Given the description of an element on the screen output the (x, y) to click on. 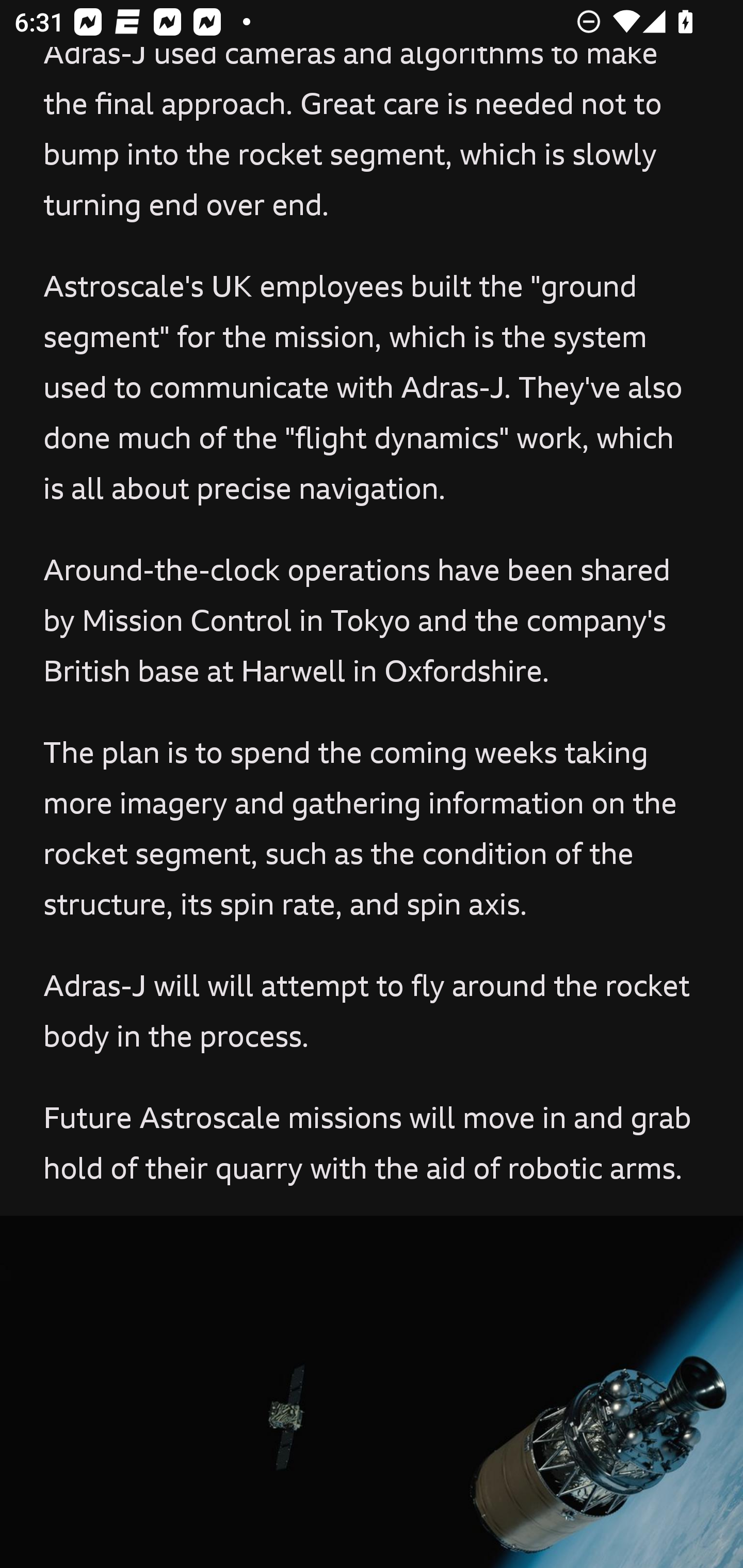
Artwork of rendezvous (371, 1391)
